Given the description of an element on the screen output the (x, y) to click on. 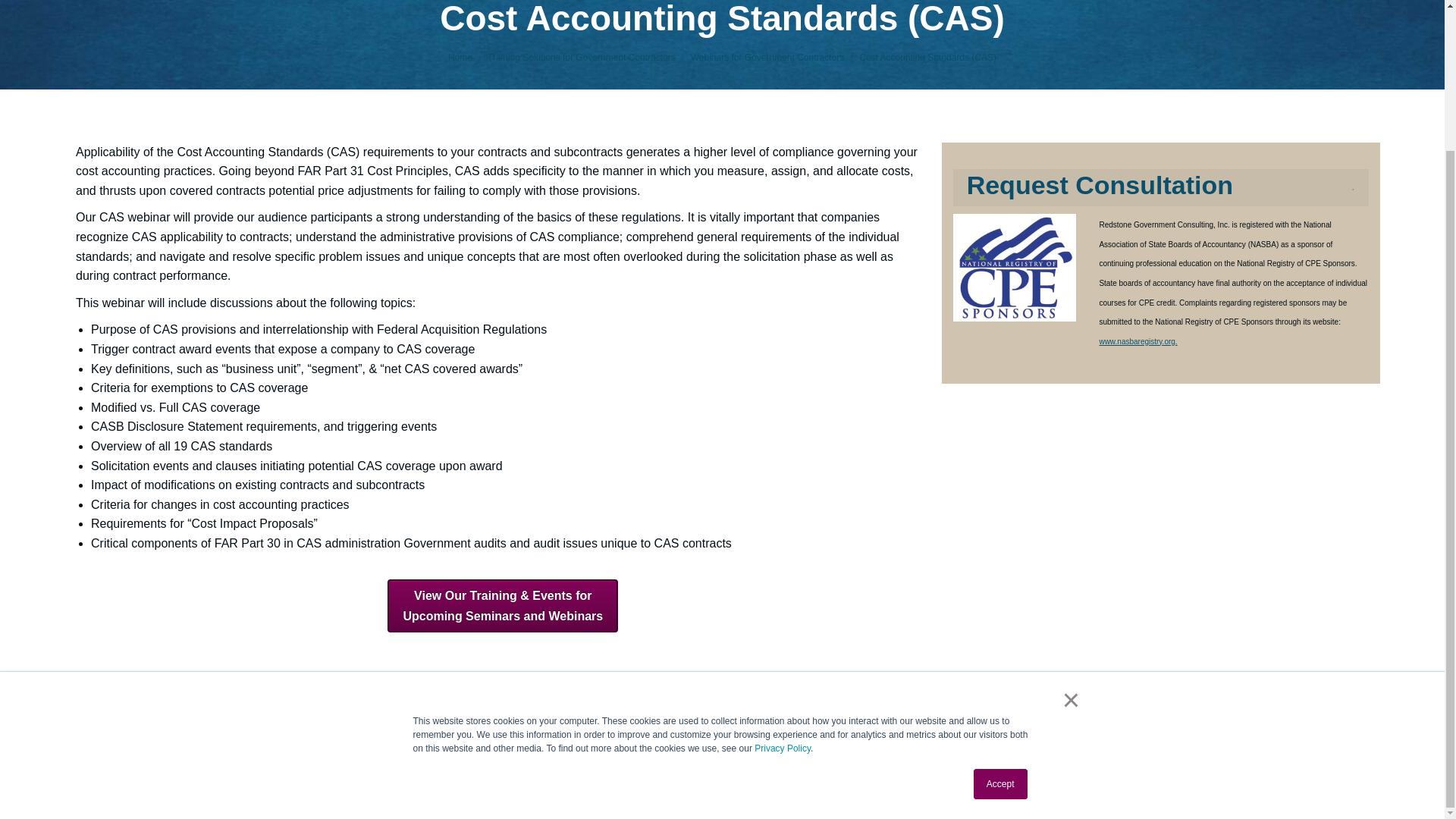
Privacy Policy (782, 574)
Home (459, 57)
Accept (1000, 610)
